Given the description of an element on the screen output the (x, y) to click on. 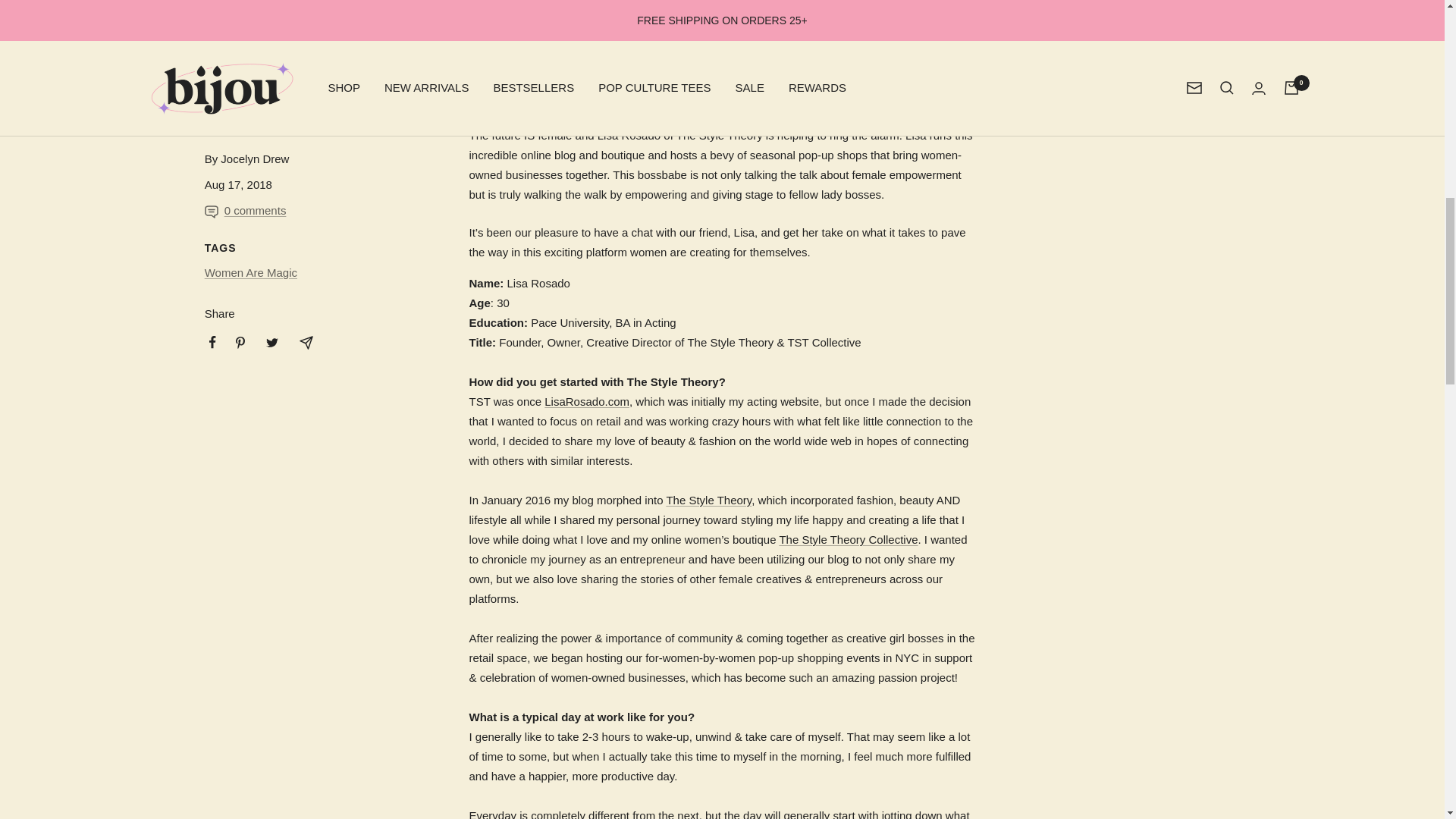
The Style Theory Collective (847, 539)
The Style Theory (708, 499)
The Style Theory Collective (847, 539)
0 comments (247, 210)
LisaRosado.com (586, 400)
The Style Theory (708, 499)
Women Are Magic (251, 272)
